Given the description of an element on the screen output the (x, y) to click on. 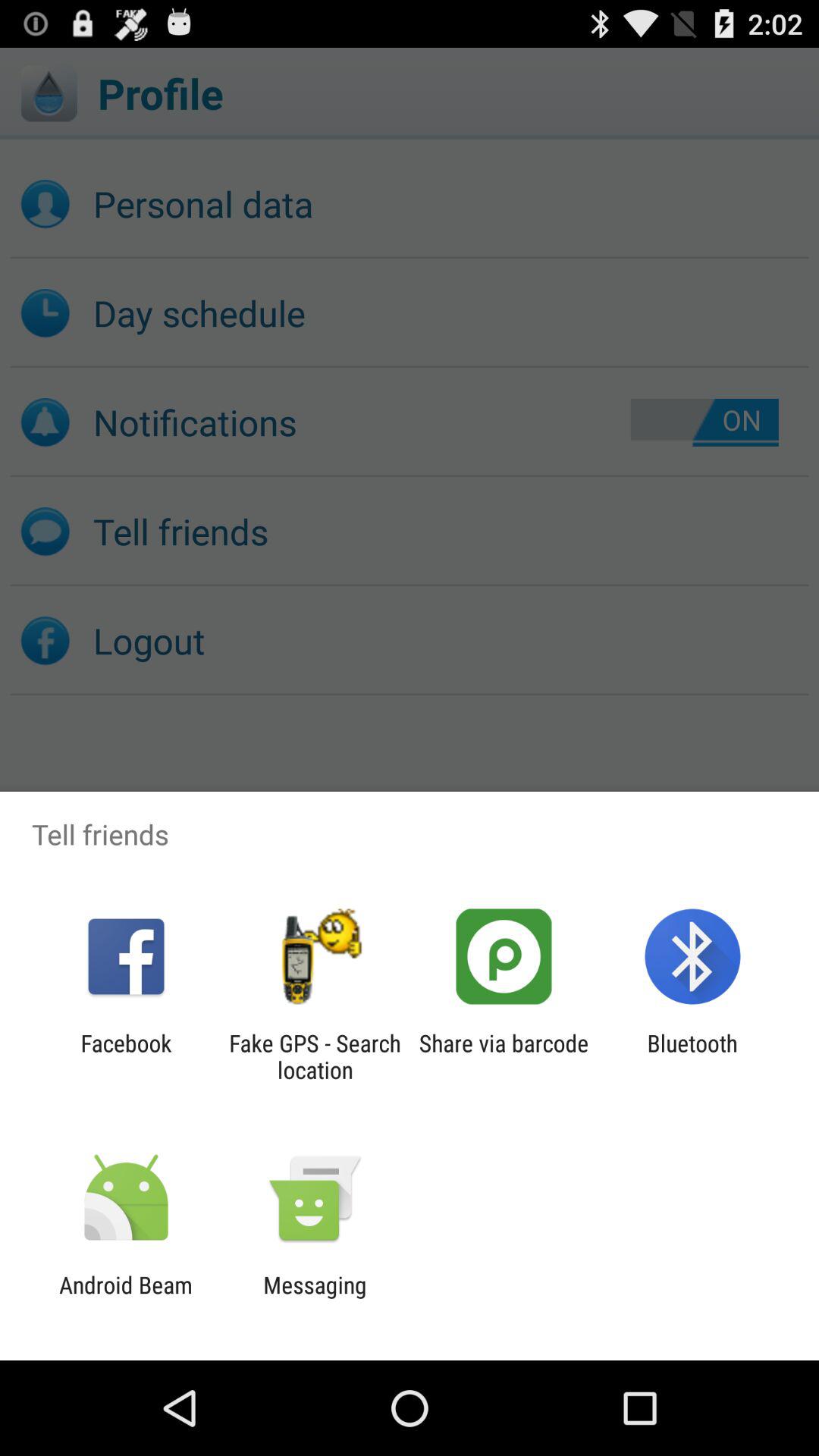
select app next to android beam (314, 1298)
